Given the description of an element on the screen output the (x, y) to click on. 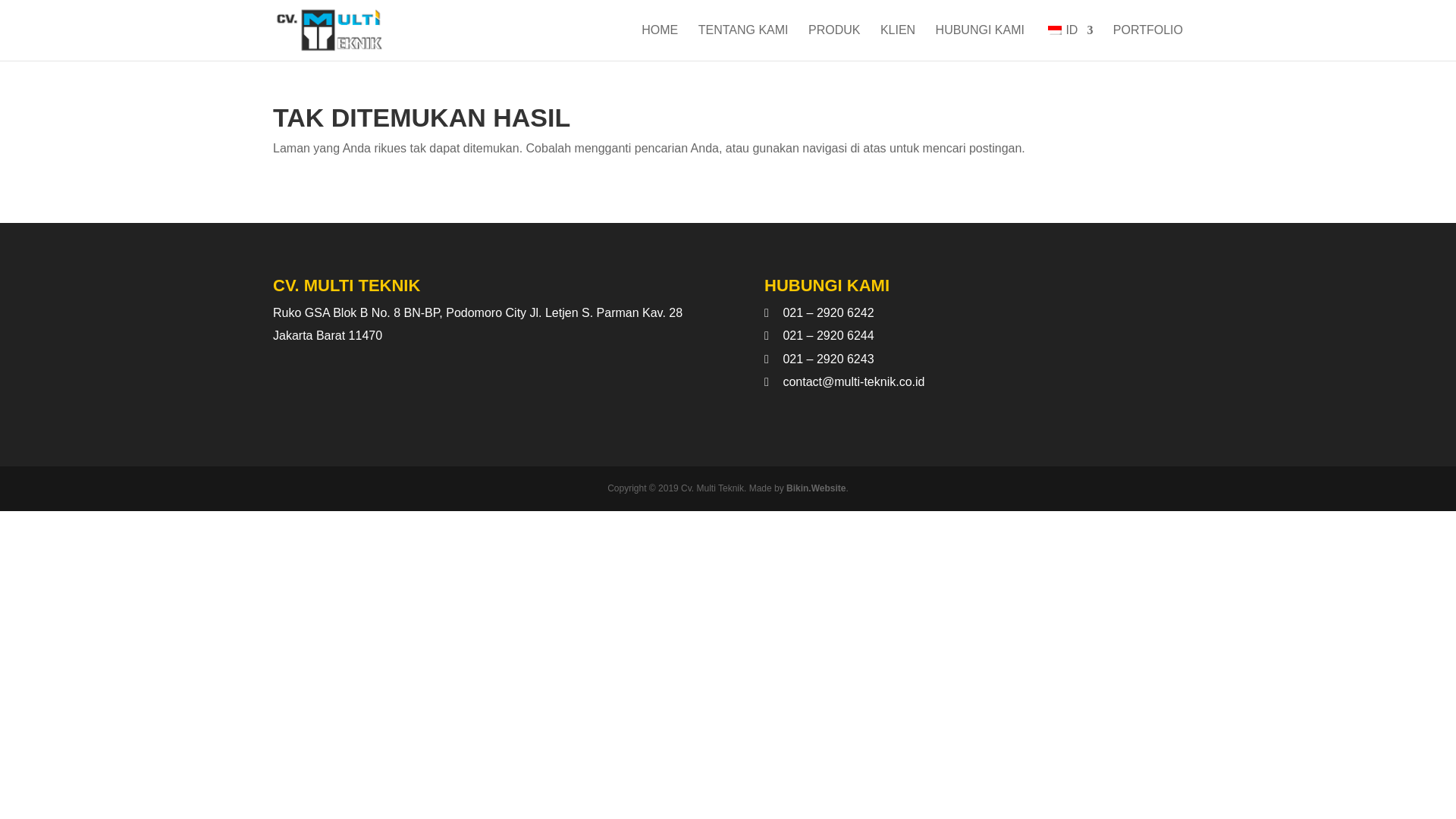
Indonesian (1054, 30)
KLIEN (897, 42)
PRODUK (834, 42)
PORTFOLIO (1147, 42)
TENTANG KAMI (743, 42)
Bikin.Website (815, 488)
ID (1068, 42)
HUBUNGI KAMI (980, 42)
HOME (660, 42)
